Given the description of an element on the screen output the (x, y) to click on. 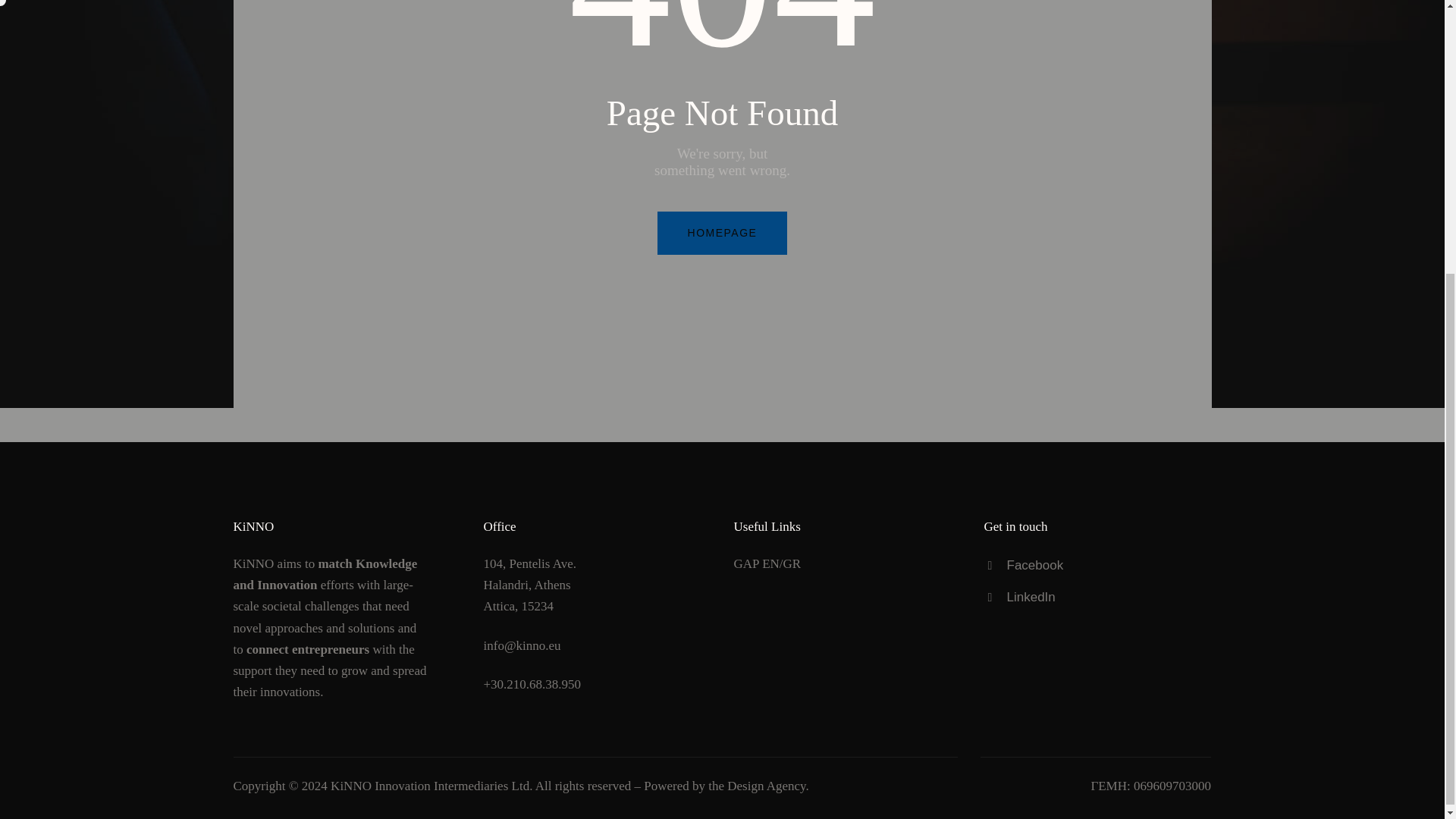
EN (769, 563)
HOMEPAGE (722, 232)
